Given the description of an element on the screen output the (x, y) to click on. 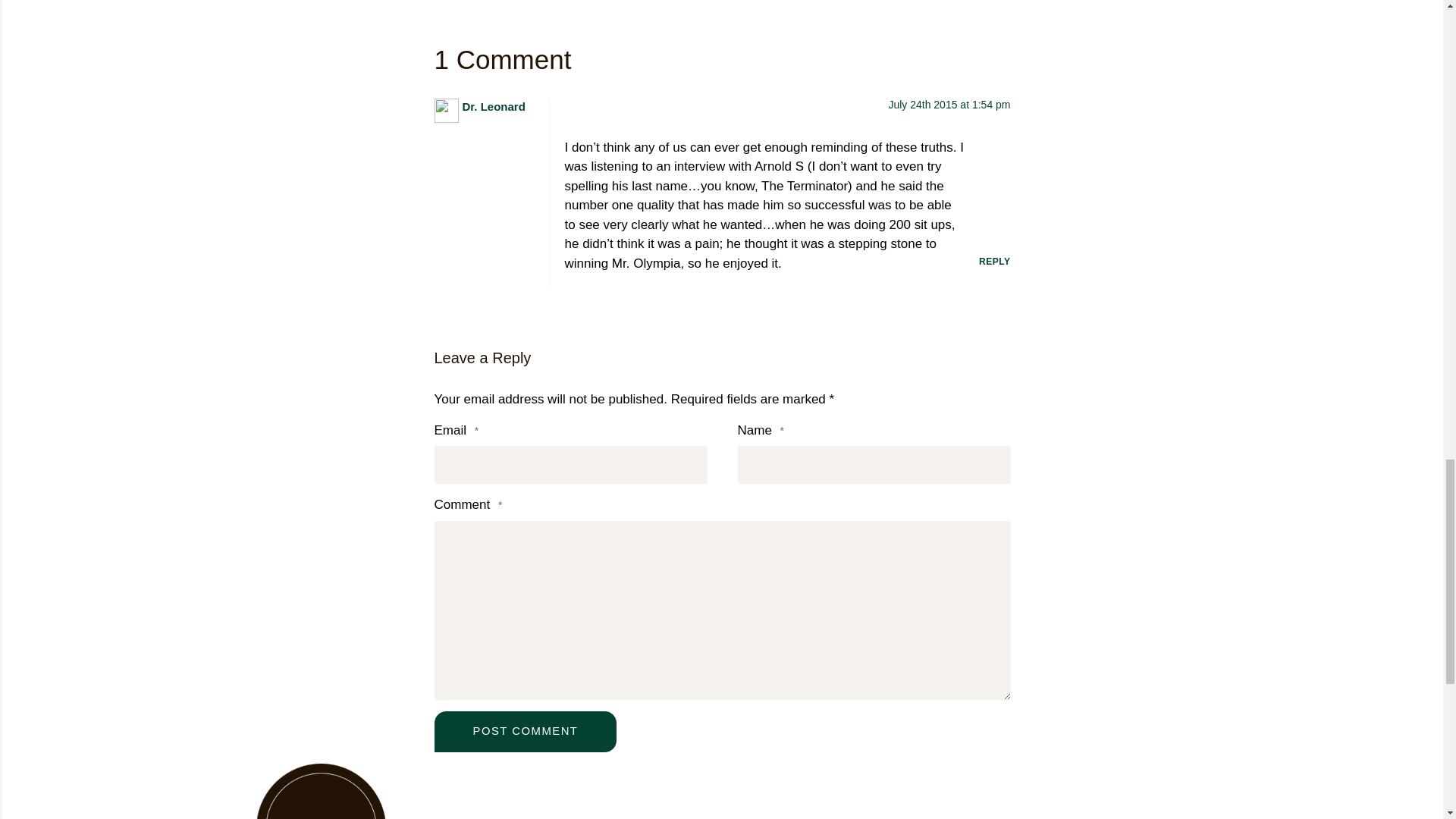
Post Comment (524, 731)
REPLY (994, 261)
Dr. Leonard (494, 106)
Post Comment (524, 731)
July 24th 2015 at 1:54 pm (949, 104)
